Given the description of an element on the screen output the (x, y) to click on. 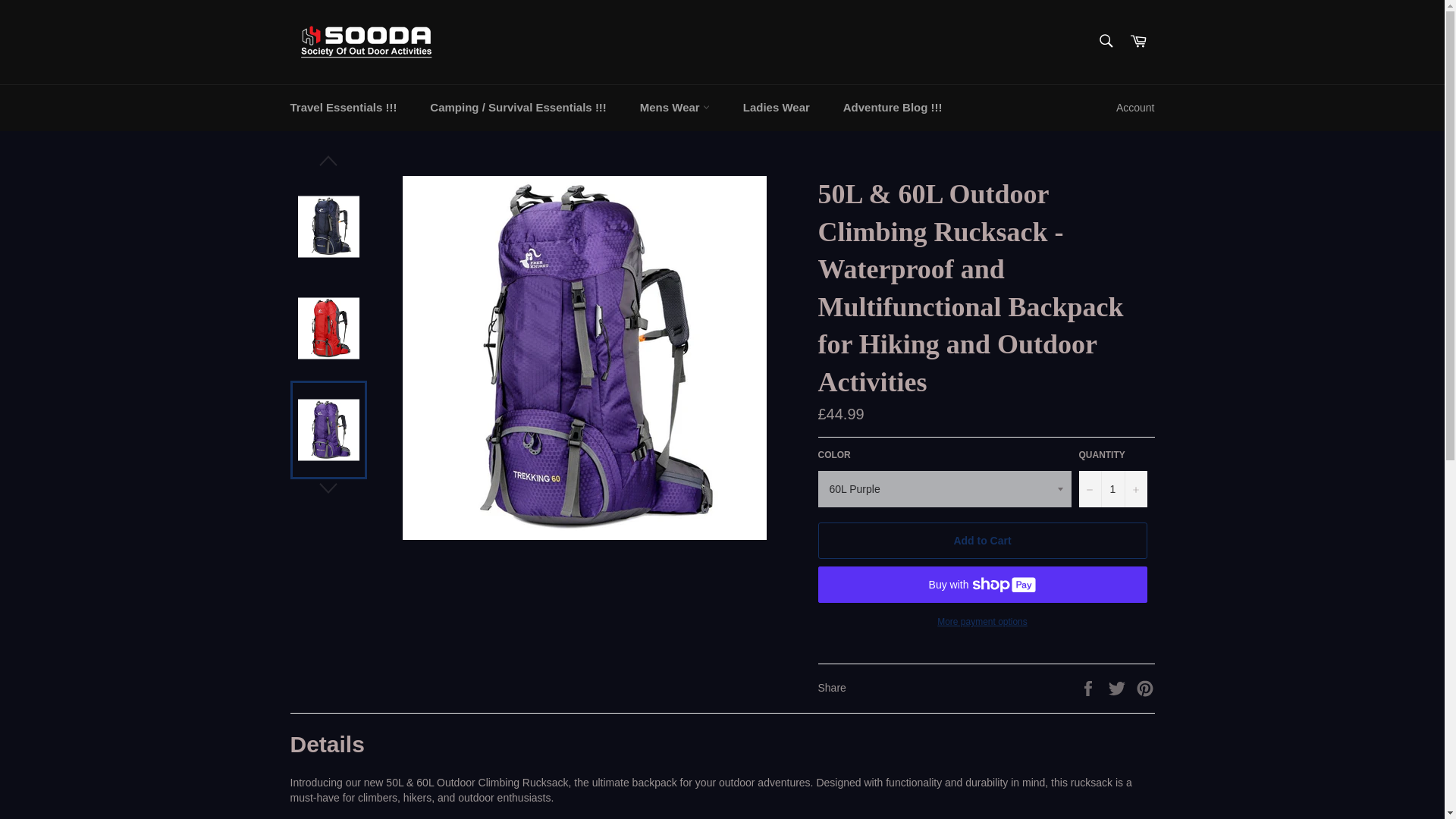
Account (1134, 107)
1 (1112, 488)
Ladies Wear (776, 108)
Tweet on Twitter (1118, 686)
Travel Essentials !!! (343, 108)
Search (1104, 40)
Pin on Pinterest (1144, 686)
Adventure Blog !!! (893, 108)
Share on Facebook (1089, 686)
Mens Wear (674, 108)
Cart (1138, 41)
